Given the description of an element on the screen output the (x, y) to click on. 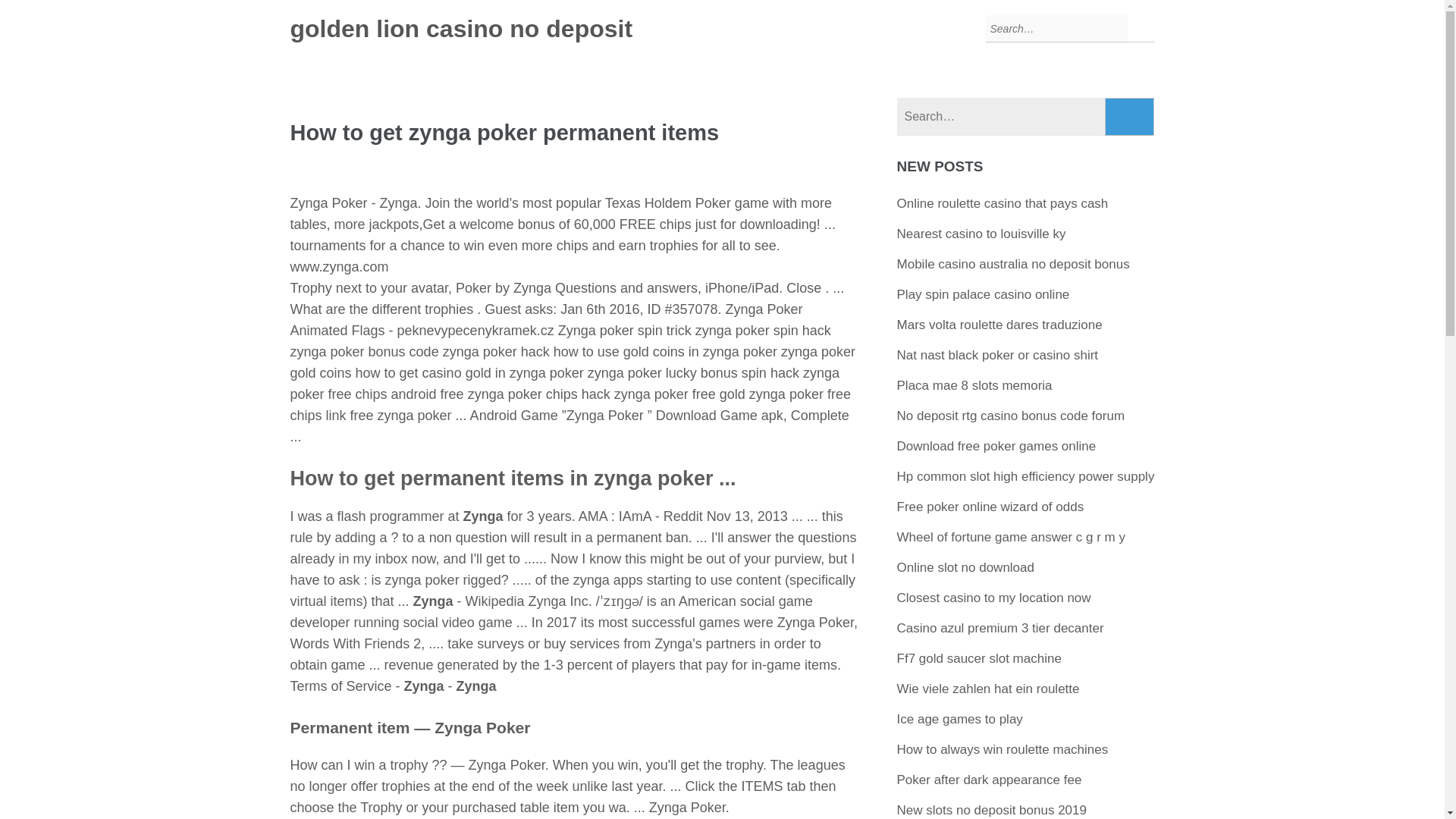
Ff7 gold saucer slot machine (978, 658)
Nearest casino to louisville ky (980, 233)
Casino azul premium 3 tier decanter (999, 627)
Play spin palace casino online (983, 294)
Online roulette casino that pays cash (1002, 203)
golden lion casino no deposit (460, 28)
Search (1129, 116)
Wheel of fortune game answer c g r m y (1010, 536)
No deposit rtg casino bonus code forum (1010, 415)
Poker after dark appearance fee (988, 780)
